Given the description of an element on the screen output the (x, y) to click on. 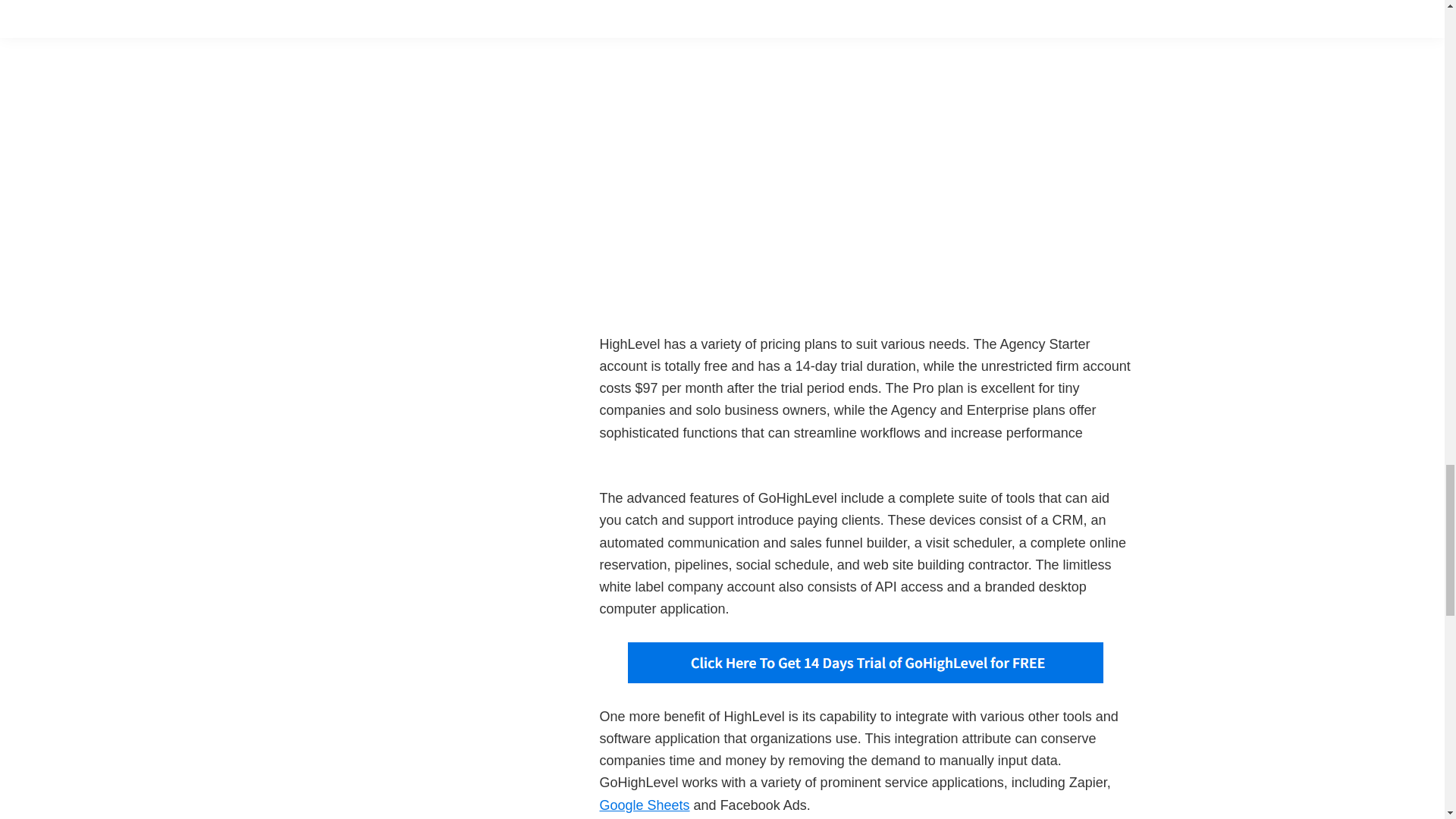
Google Sheets (643, 805)
